Given the description of an element on the screen output the (x, y) to click on. 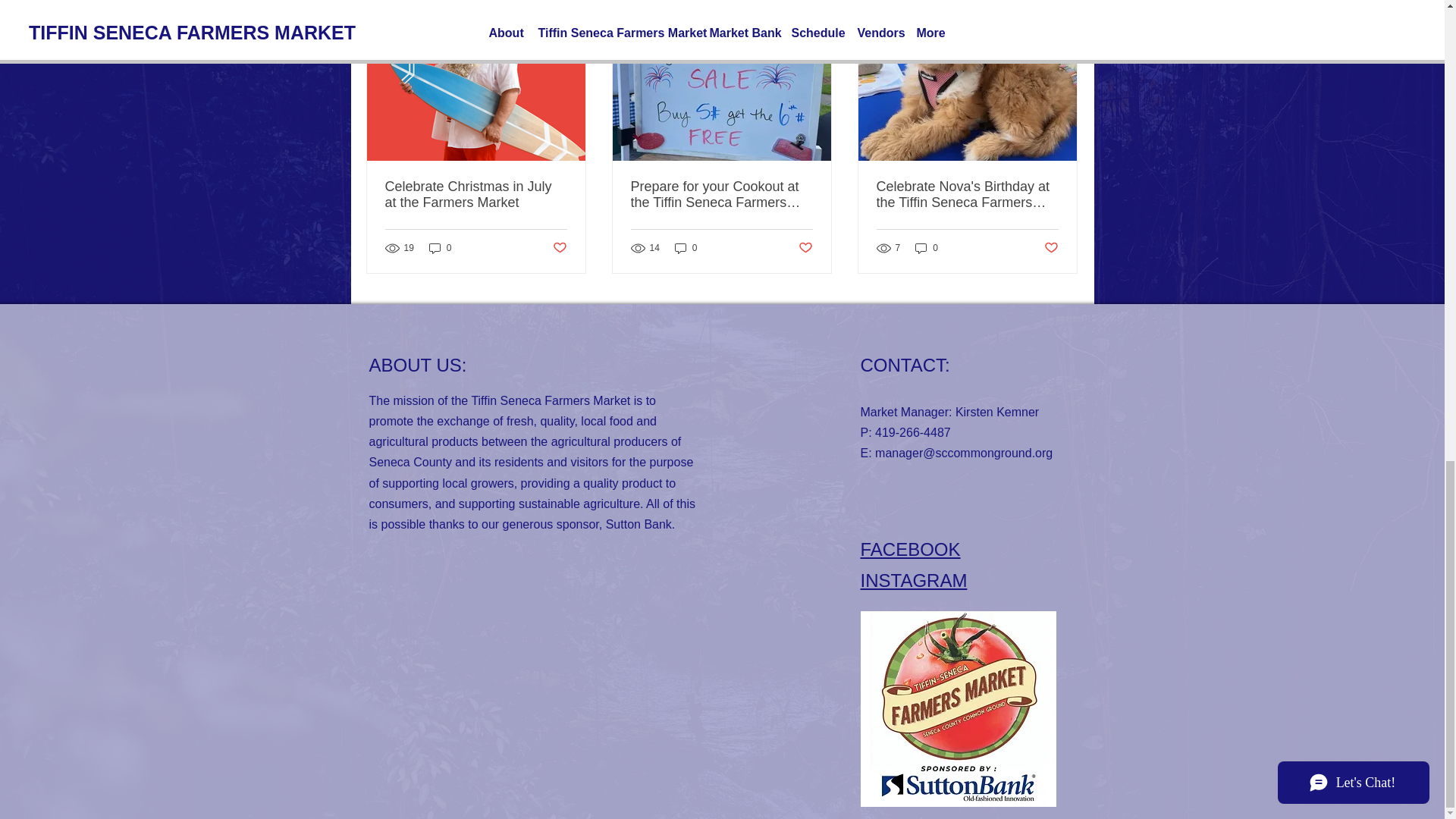
Post not marked as liked (1050, 248)
Prepare for your Cookout at the Tiffin Seneca Farmers Market (721, 194)
0 (440, 247)
INSTAGRAM (913, 580)
0 (926, 247)
See All (1061, 11)
0 (685, 247)
Google Maps (529, 695)
Post not marked as liked (558, 248)
